Given the description of an element on the screen output the (x, y) to click on. 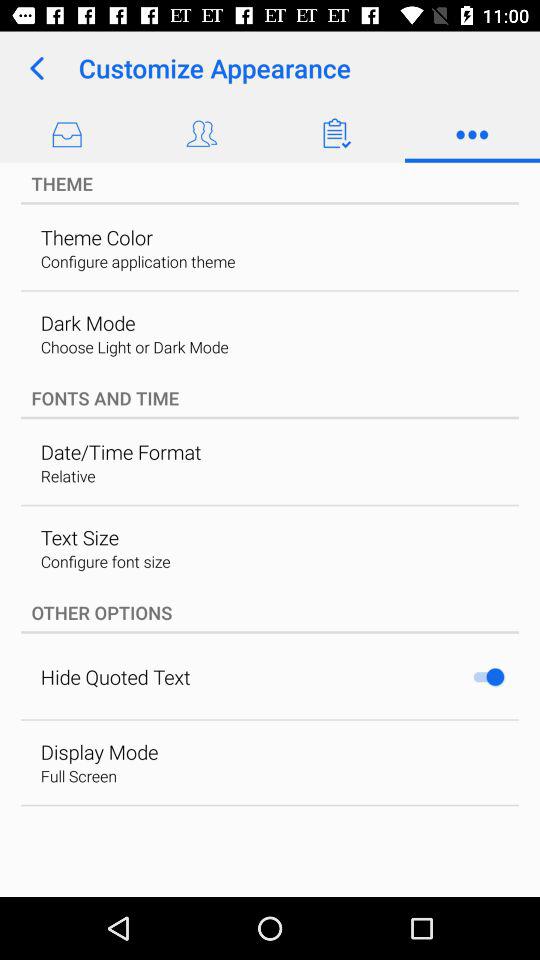
flip until the date/time format (120, 451)
